Given the description of an element on the screen output the (x, y) to click on. 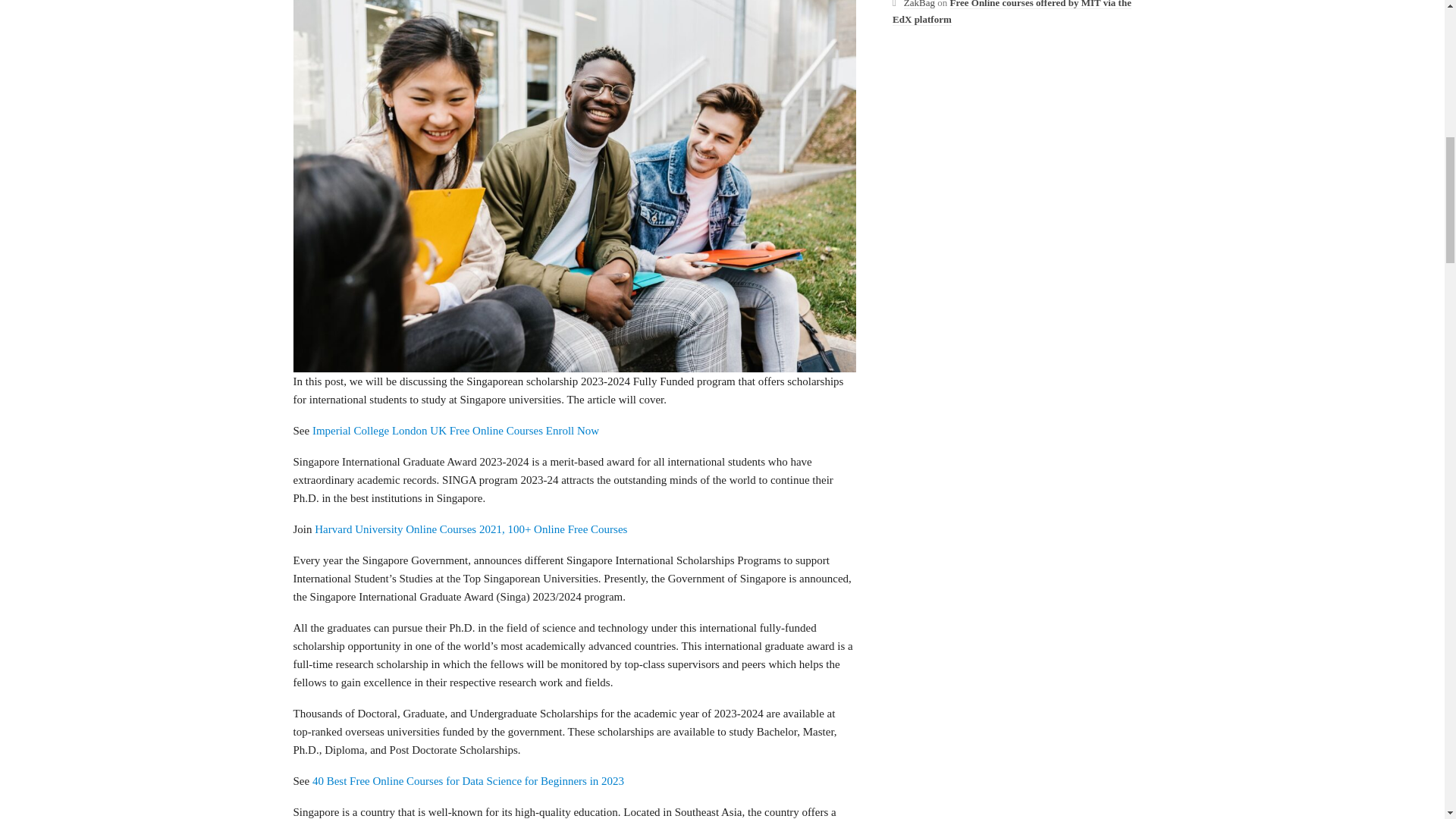
Imperial College London UK Free Online Courses Enroll Now (455, 430)
